Given the description of an element on the screen output the (x, y) to click on. 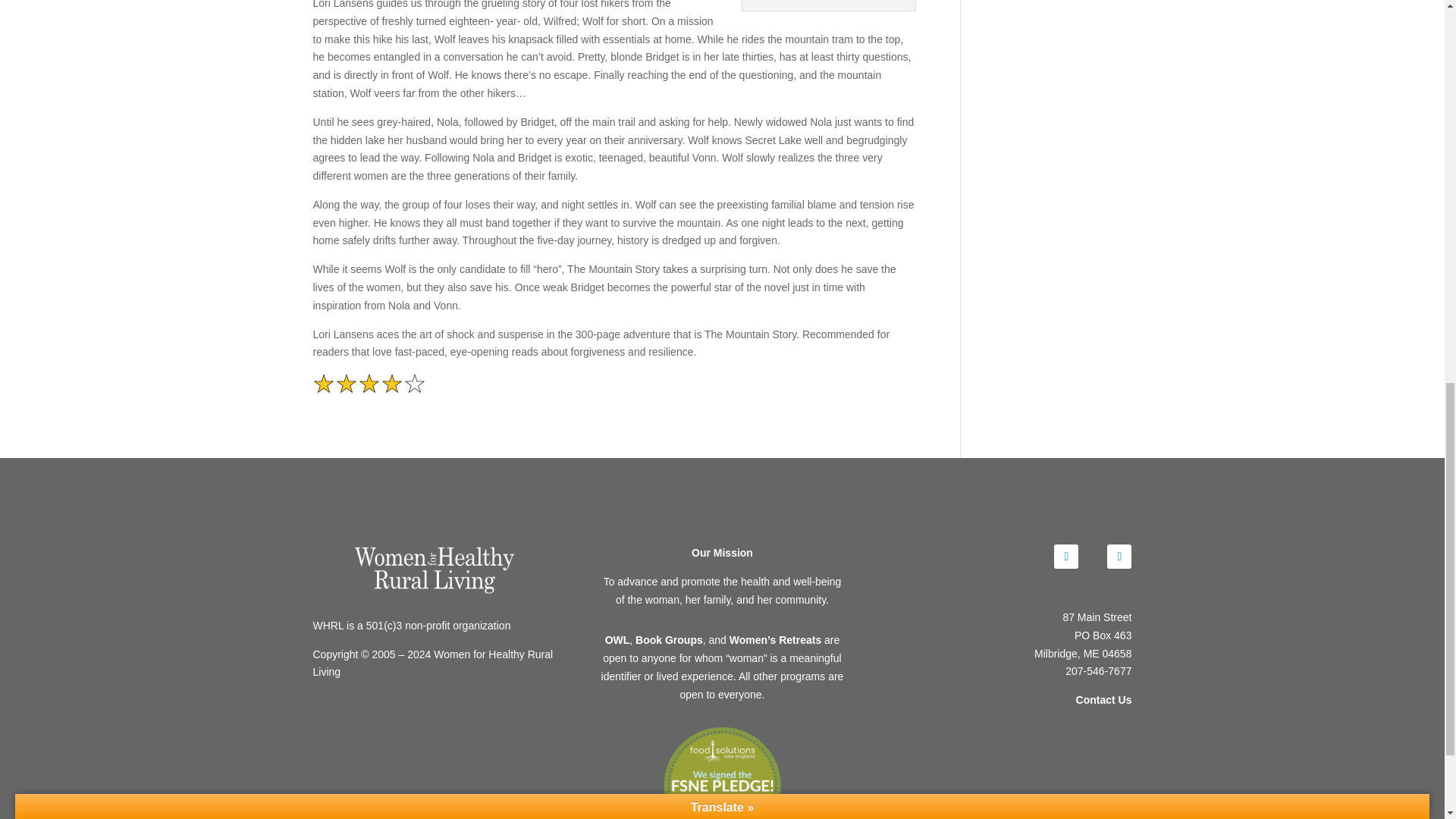
Follow on Facebook (1066, 556)
Women for Healthy Rural Living (434, 569)
Follow on Instagram (1118, 556)
